Given the description of an element on the screen output the (x, y) to click on. 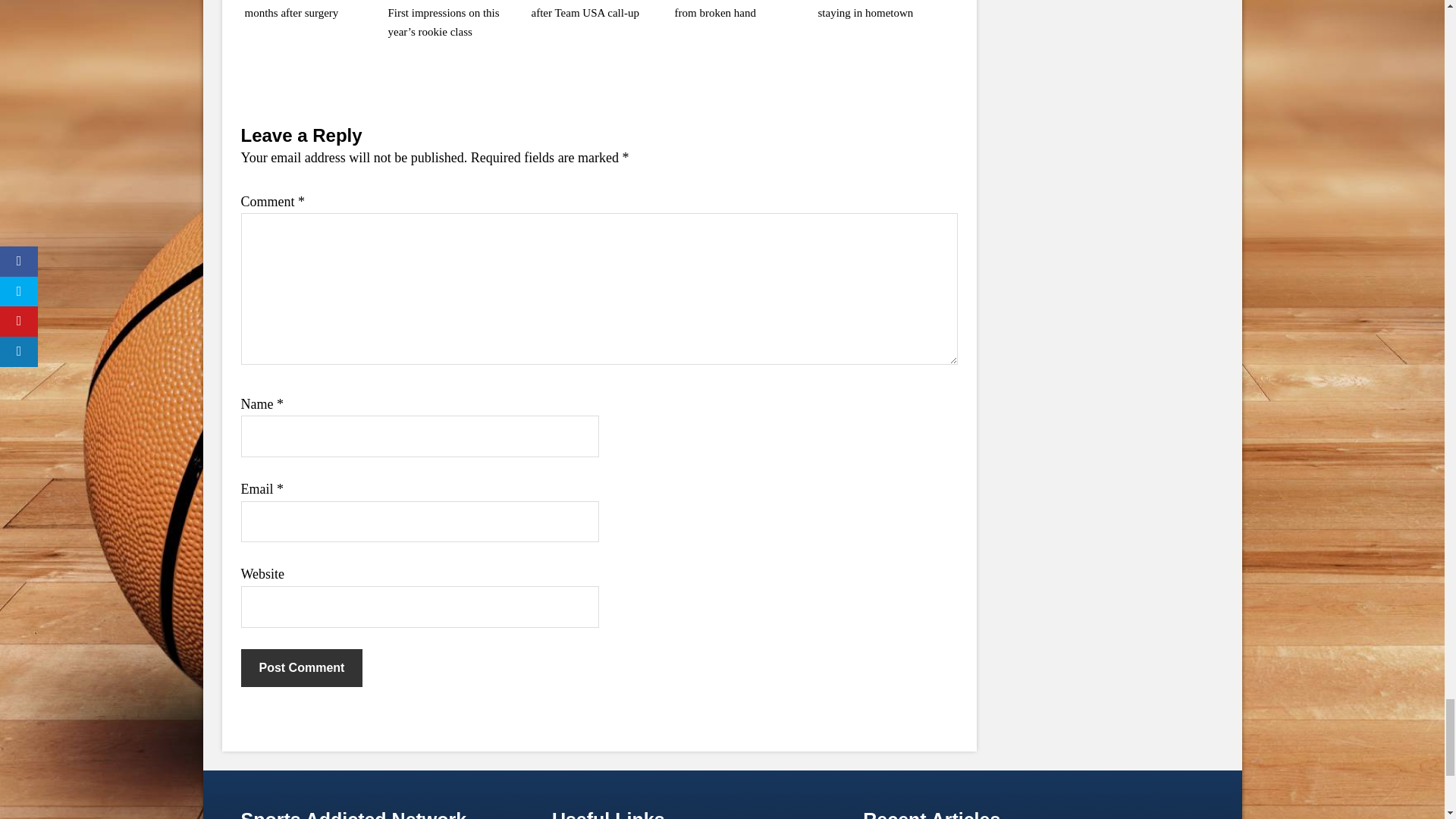
Post Comment (301, 668)
